Given the description of an element on the screen output the (x, y) to click on. 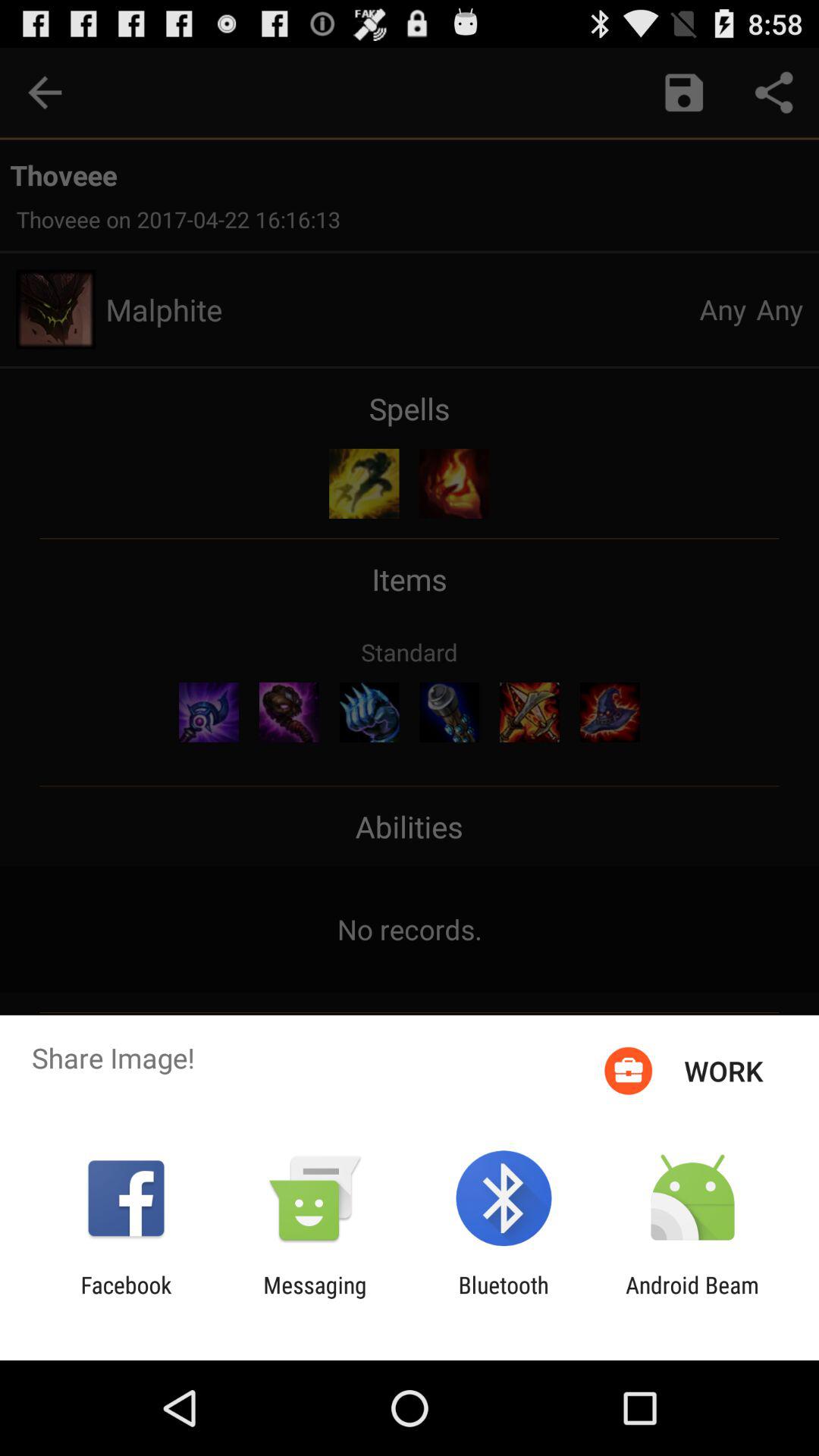
tap the app to the right of facebook (314, 1298)
